Given the description of an element on the screen output the (x, y) to click on. 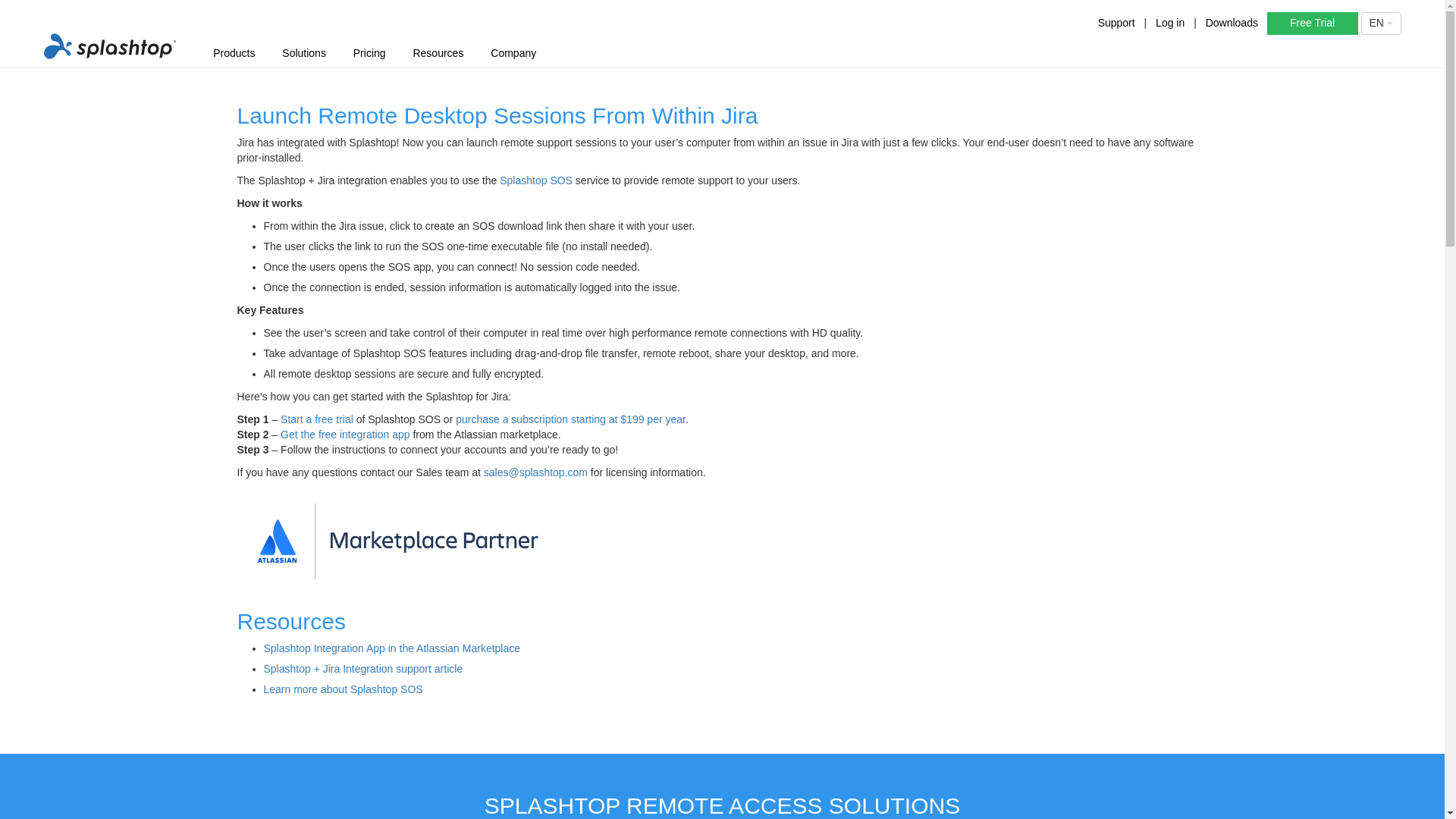
EN (1379, 23)
Products (233, 53)
Downloads (1231, 22)
Free Trial (1312, 23)
Support (1116, 22)
Solutions (303, 53)
Log in (1170, 22)
